Given the description of an element on the screen output the (x, y) to click on. 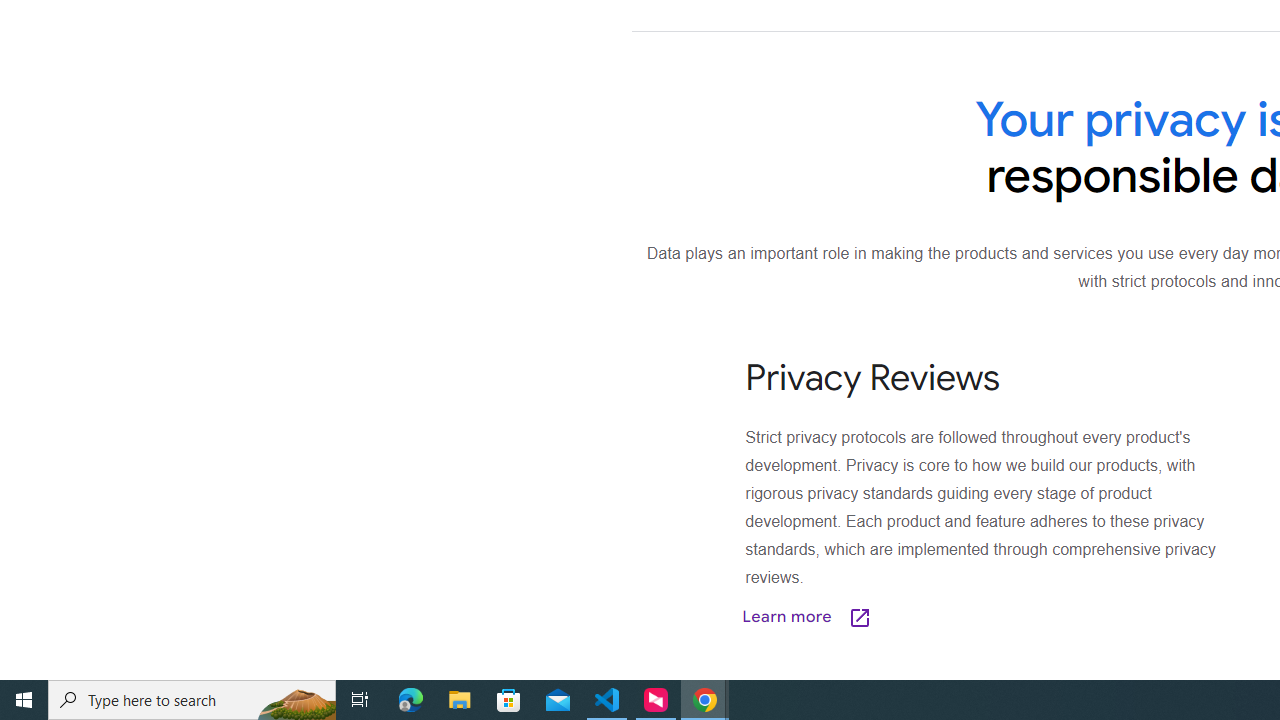
Learn more  (907, 616)
